Given the description of an element on the screen output the (x, y) to click on. 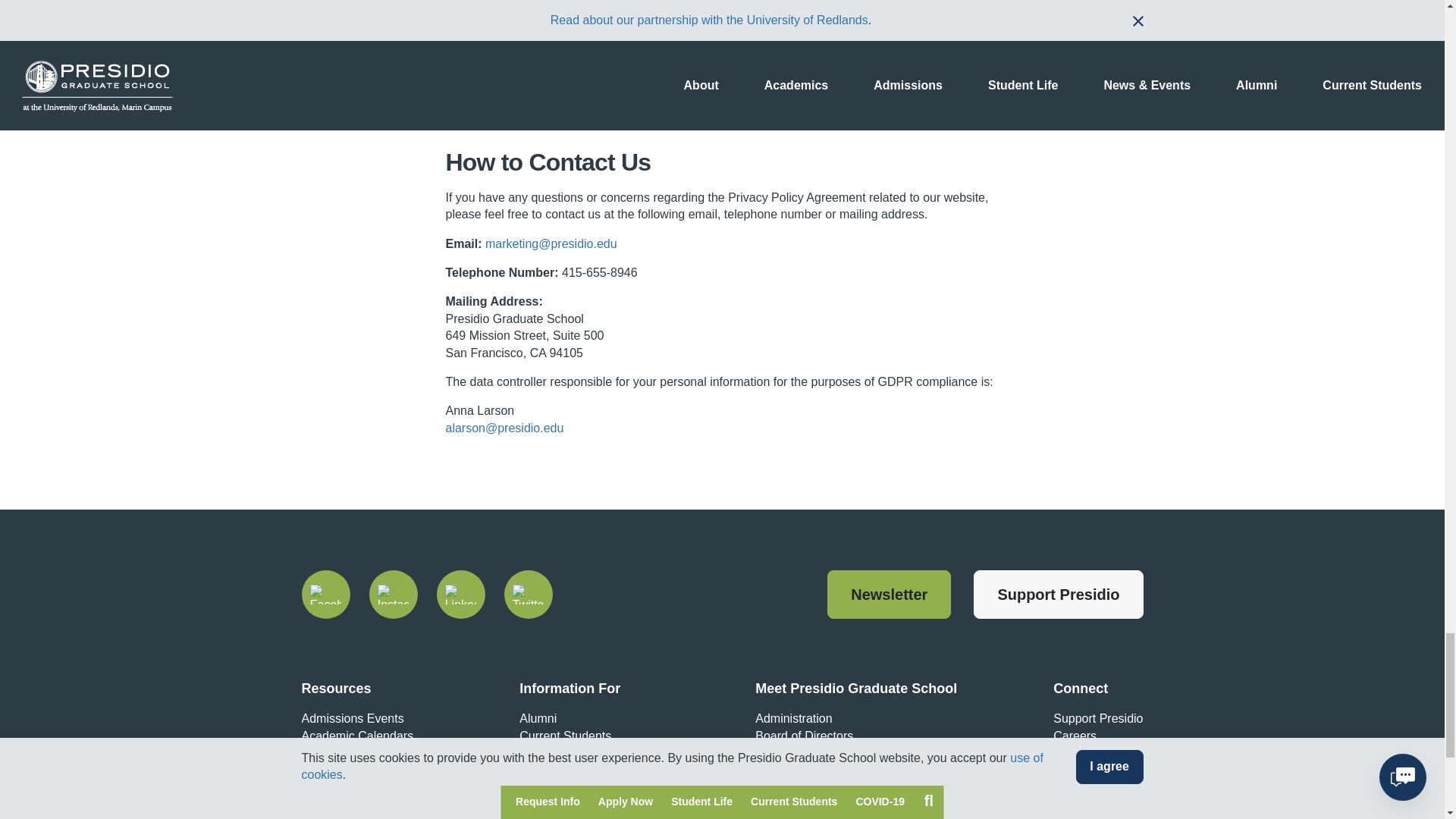
Follow us on LinkedIn (460, 594)
Newsletter (888, 594)
Follow us on Twitter (527, 594)
Follow us on Instagram (392, 594)
Support Presidio (1058, 594)
Like us on Facebook (325, 594)
